Given the description of an element on the screen output the (x, y) to click on. 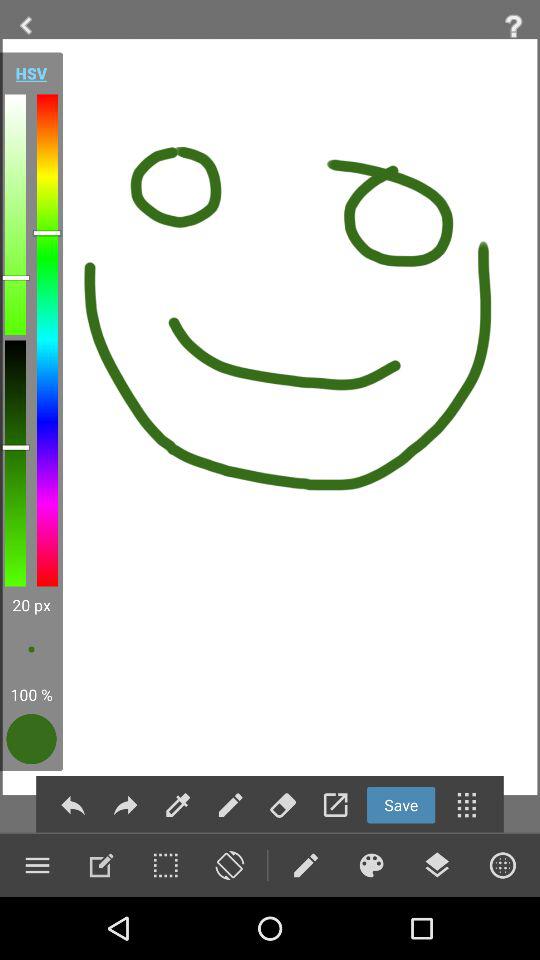
expotrt (335, 804)
